Given the description of an element on the screen output the (x, y) to click on. 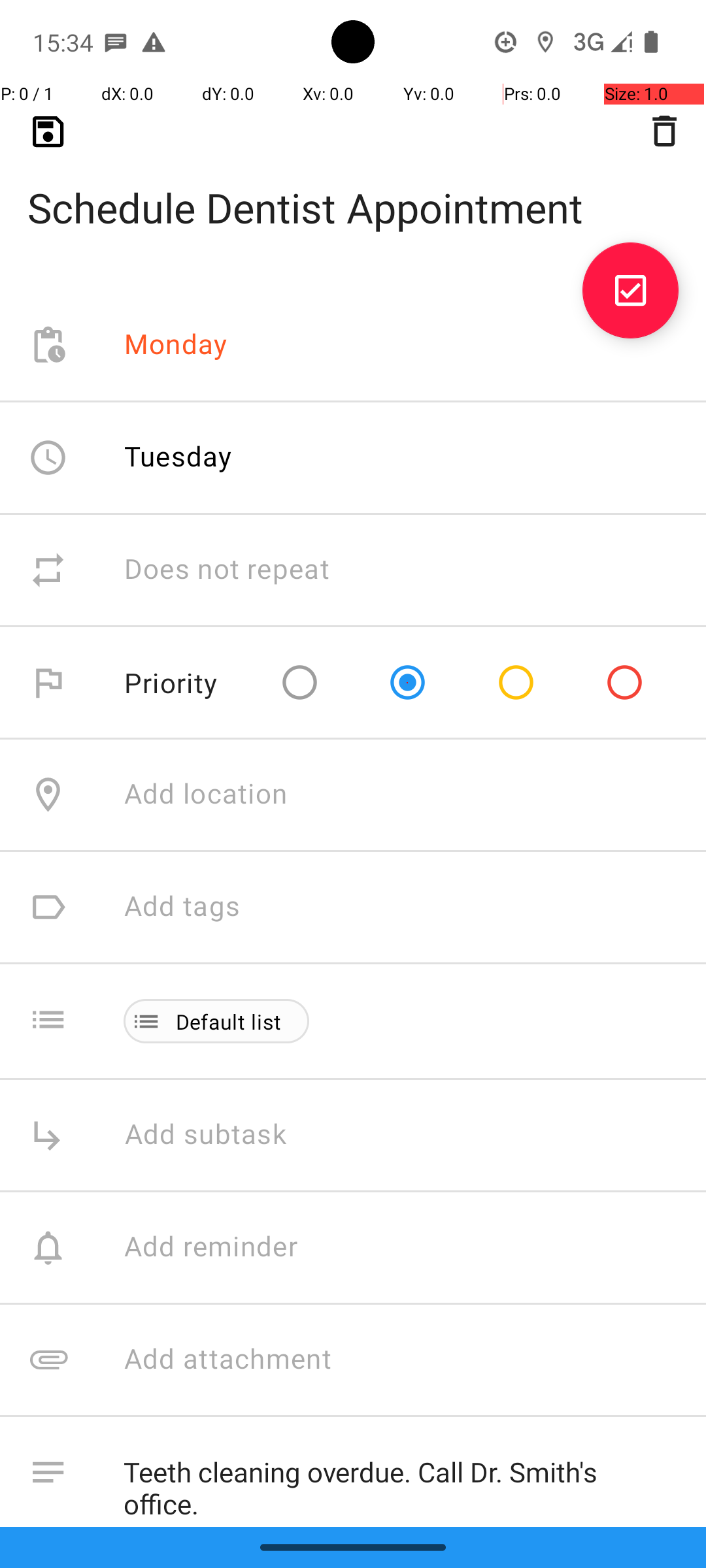
Teeth cleaning overdue. Call Dr. Smith's office. Element type: android.widget.EditText (400, 1481)
